Given the description of an element on the screen output the (x, y) to click on. 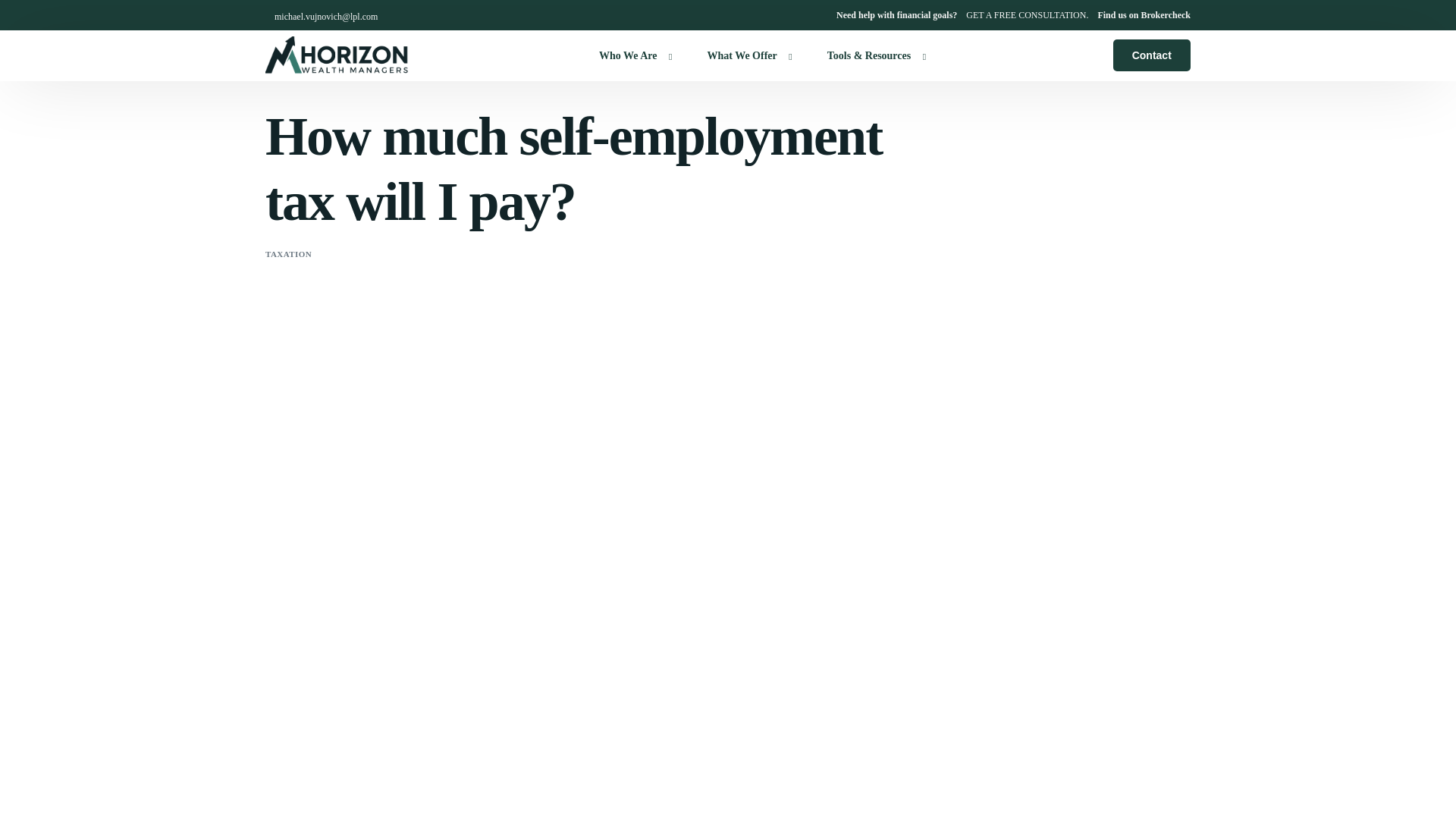
What We Offer (745, 55)
TAXATION (287, 253)
Who We Are (631, 55)
GET A FREE CONSULTATION. (1026, 14)
Contact (1152, 55)
Find us on Brokercheck (1144, 14)
